Given the description of an element on the screen output the (x, y) to click on. 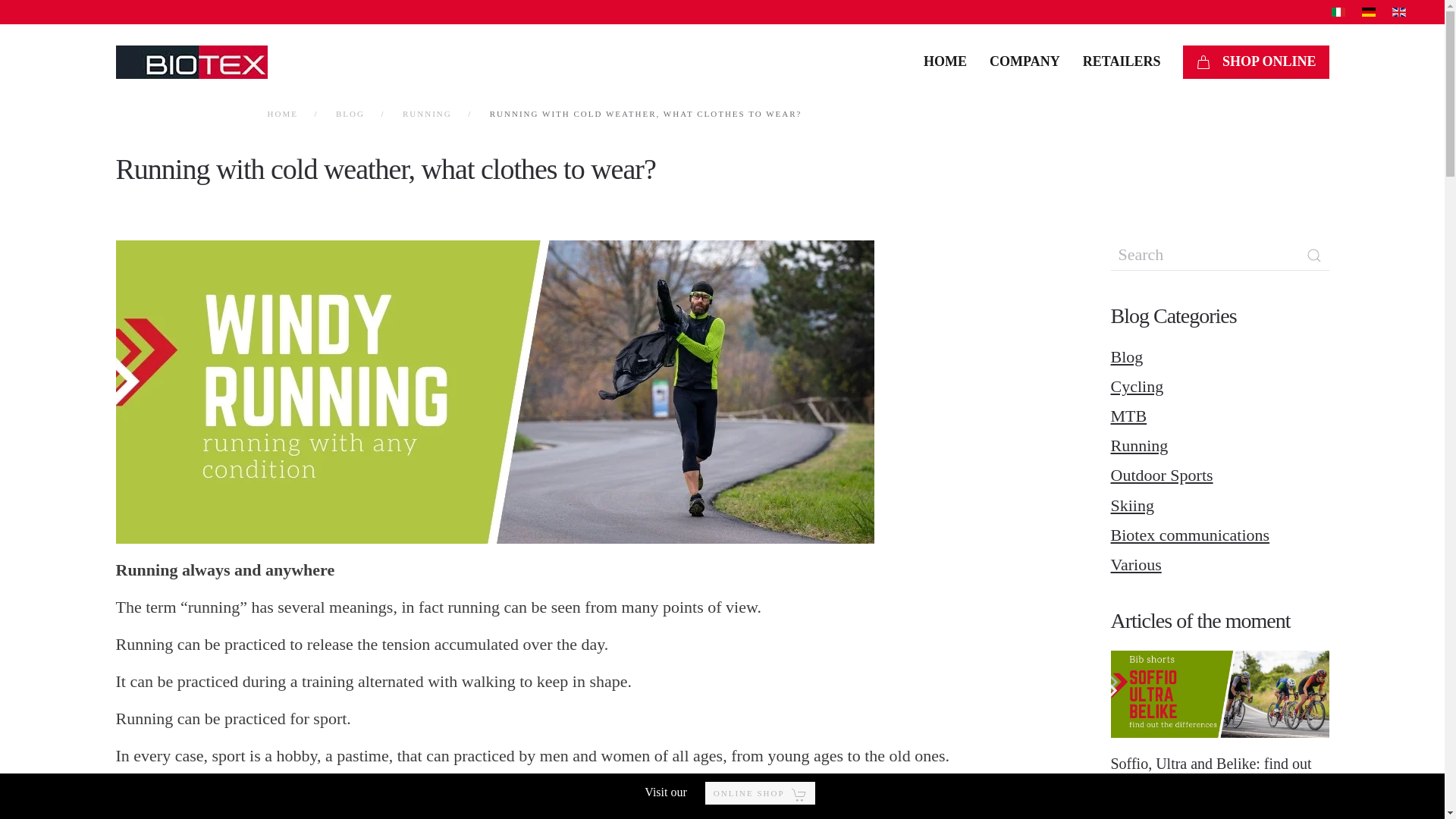
BLOG (350, 112)
SHOP ONLINE (1254, 61)
COMPANY (1024, 61)
HOME (281, 112)
RETAILERS (1121, 61)
